Given the description of an element on the screen output the (x, y) to click on. 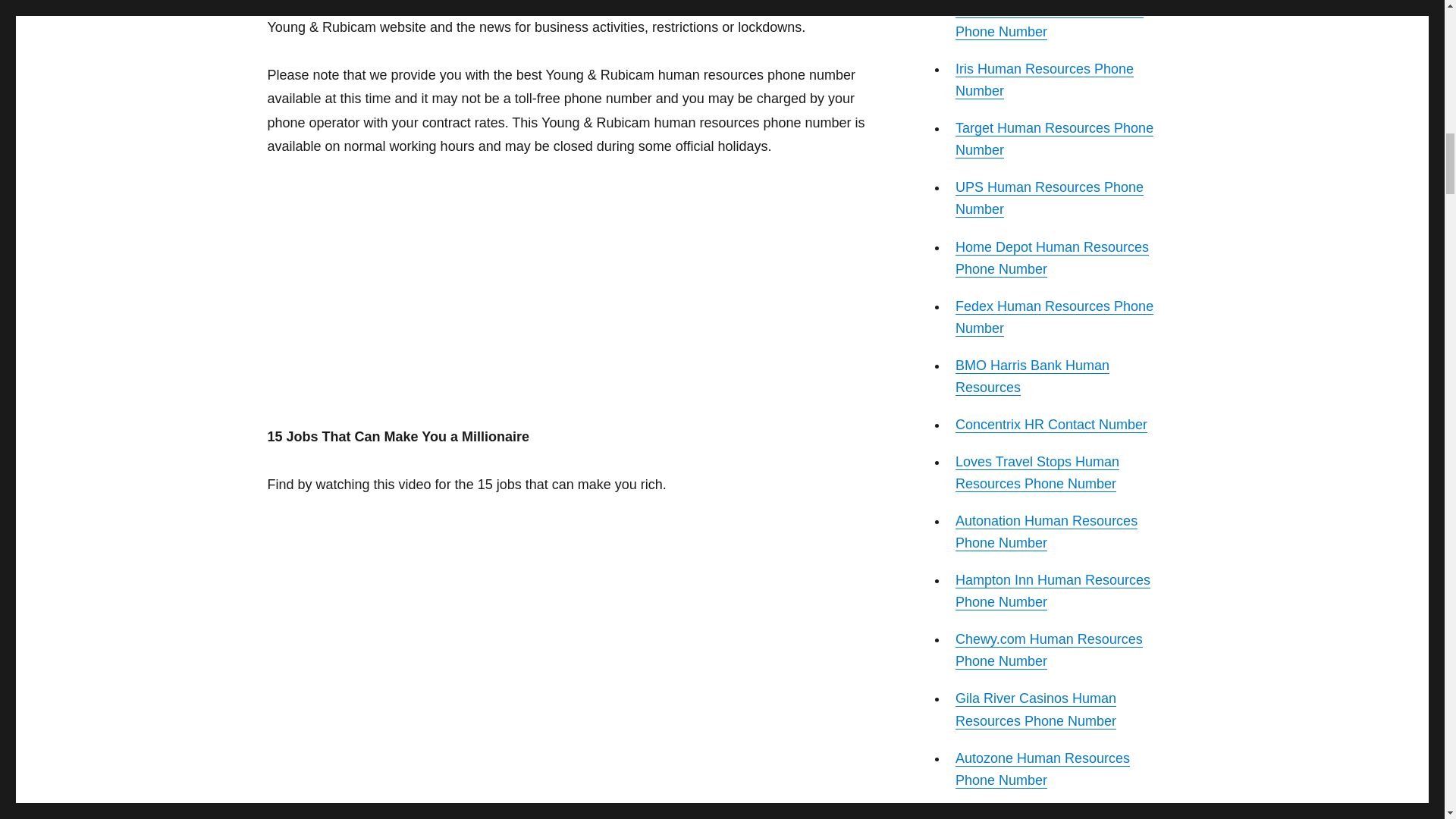
Concentrix HR Contact Number (1051, 424)
Autonation Human Resources Phone Number (1046, 531)
UPS Human Resources Phone Number (1048, 198)
Iris Human Resources Phone Number (1044, 79)
BMO Harris Bank Human Resources (1032, 375)
Home Depot Human Resources Phone Number (1051, 257)
Target Human Resources Phone Number (1054, 139)
Loves Travel Stops Human Resources Phone Number (1037, 472)
Hampton Inn Human Resources Phone Number (1052, 590)
McDonald's Human Resources Phone Number (1048, 20)
Fedex Human Resources Phone Number (1054, 316)
